Given the description of an element on the screen output the (x, y) to click on. 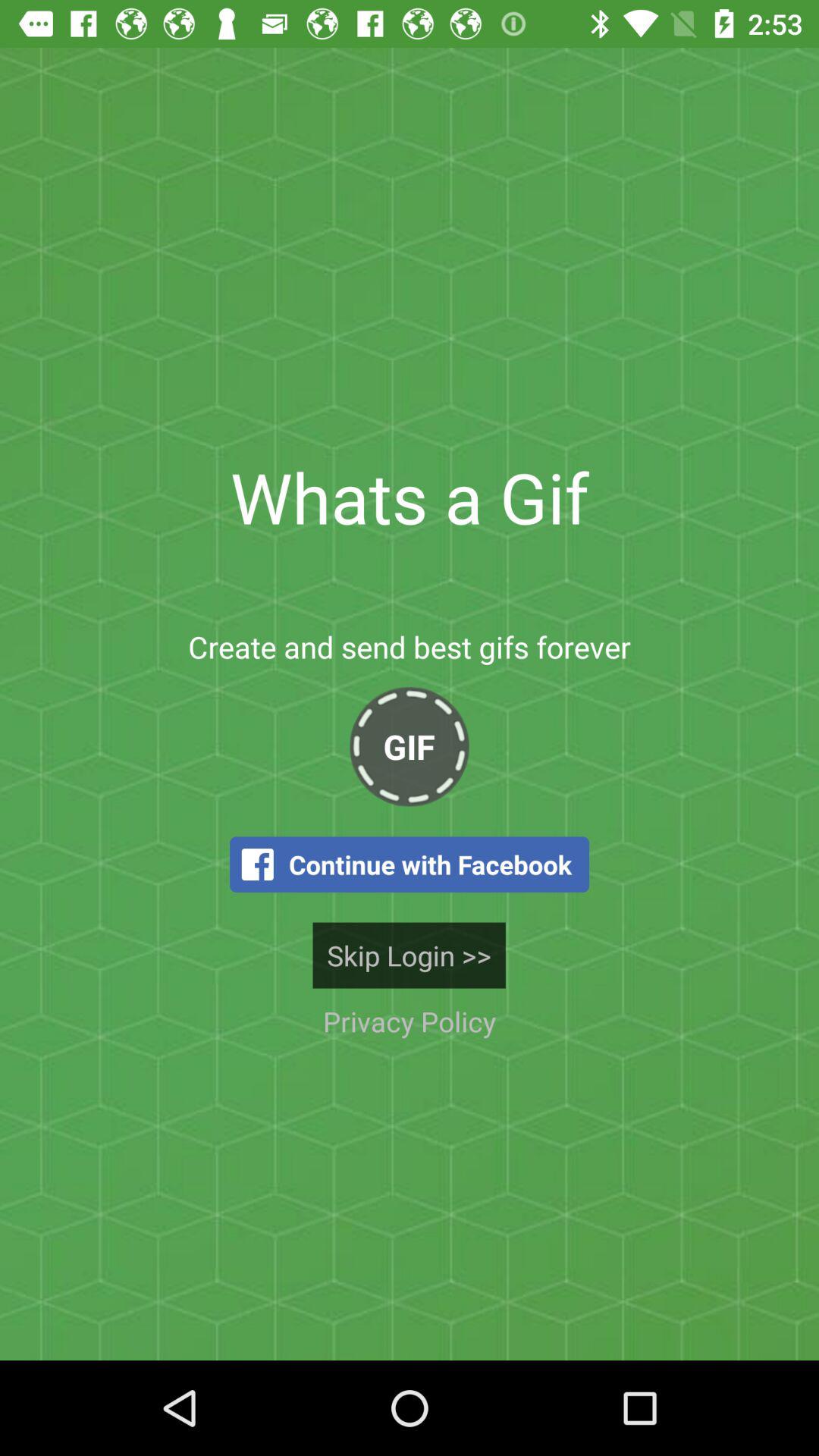
launch the icon above the privacy policy (408, 955)
